Given the description of an element on the screen output the (x, y) to click on. 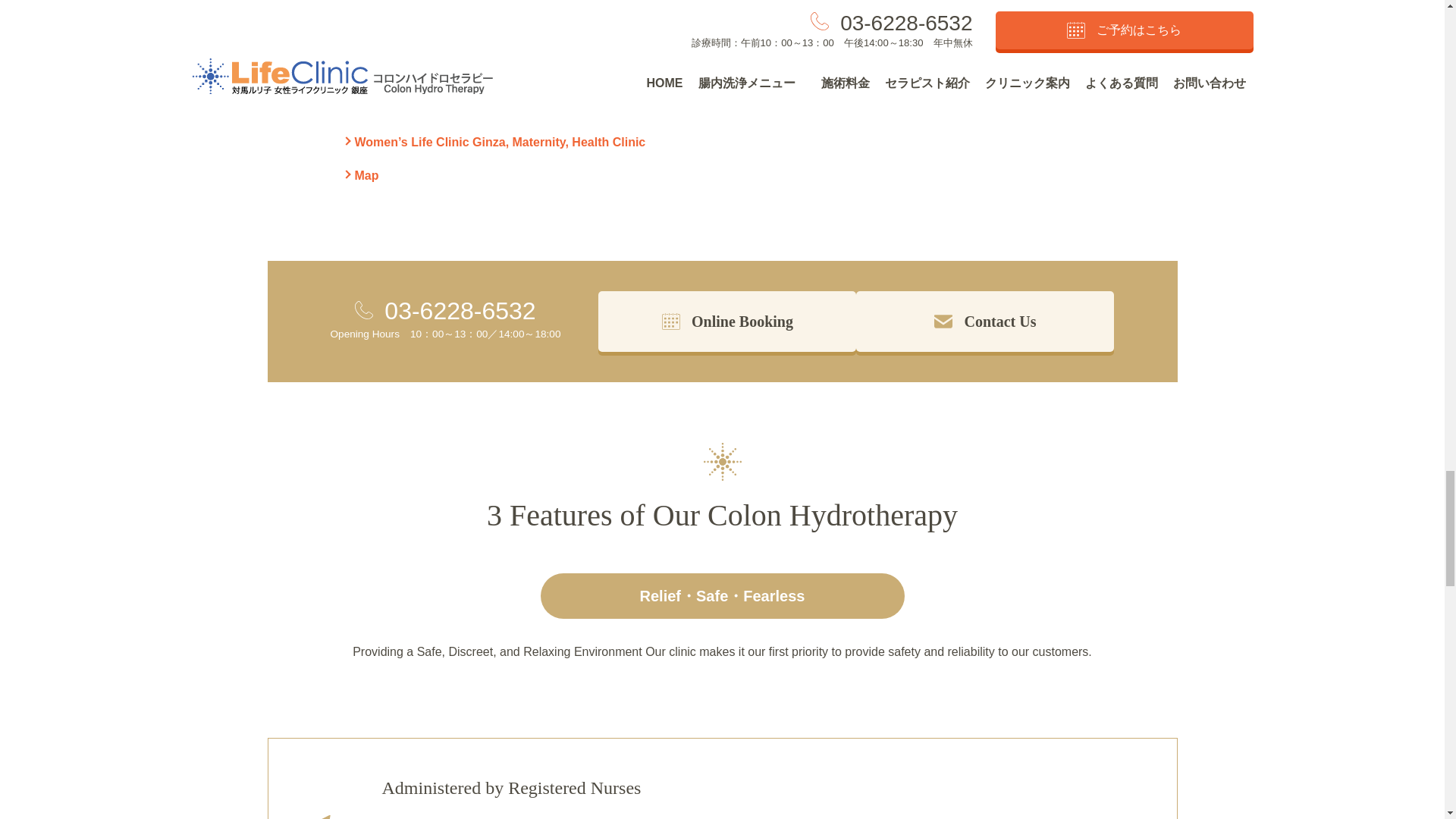
Online Booking (727, 321)
Contact Us (984, 321)
03-6228-6532 (459, 310)
Map (360, 176)
